Given the description of an element on the screen output the (x, y) to click on. 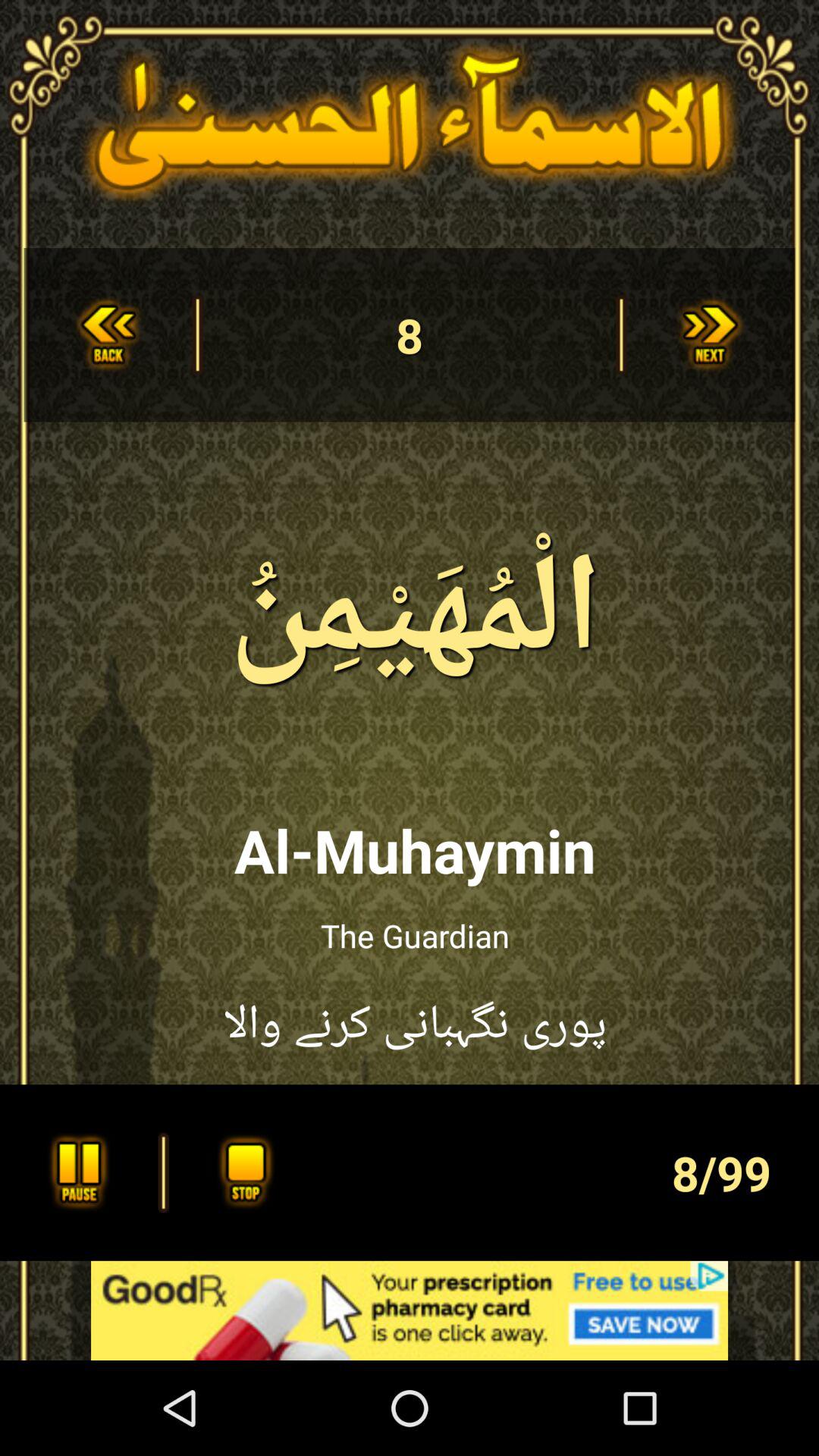
stop (241, 1172)
